Given the description of an element on the screen output the (x, y) to click on. 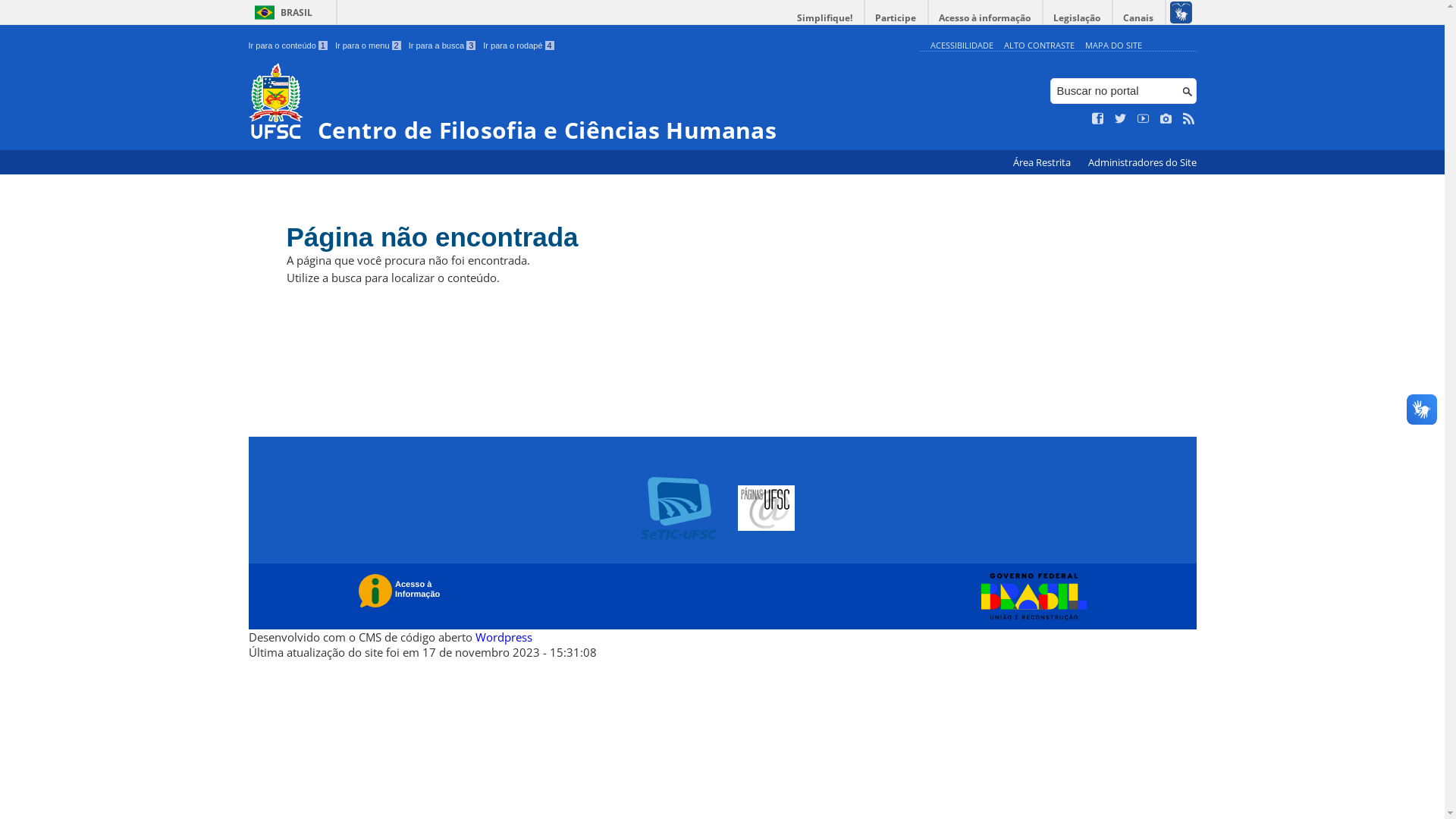
Veja no Instagram Element type: hover (1166, 118)
Administradores do Site Element type: text (1141, 162)
Ir para a busca 3 Element type: text (442, 45)
Curta no Facebook Element type: hover (1098, 118)
Wordpress Element type: text (502, 636)
Ir para o menu 2 Element type: text (368, 45)
ACESSIBILIDADE Element type: text (960, 44)
Siga no Twitter Element type: hover (1120, 118)
Participe Element type: text (895, 18)
ALTO CONTRASTE Element type: text (1039, 44)
Canais Element type: text (1138, 18)
MAPA DO SITE Element type: text (1112, 44)
BRASIL Element type: text (280, 12)
Governo Federal Element type: hover (1029, 596)
Simplifique! Element type: text (825, 18)
